Given the description of an element on the screen output the (x, y) to click on. 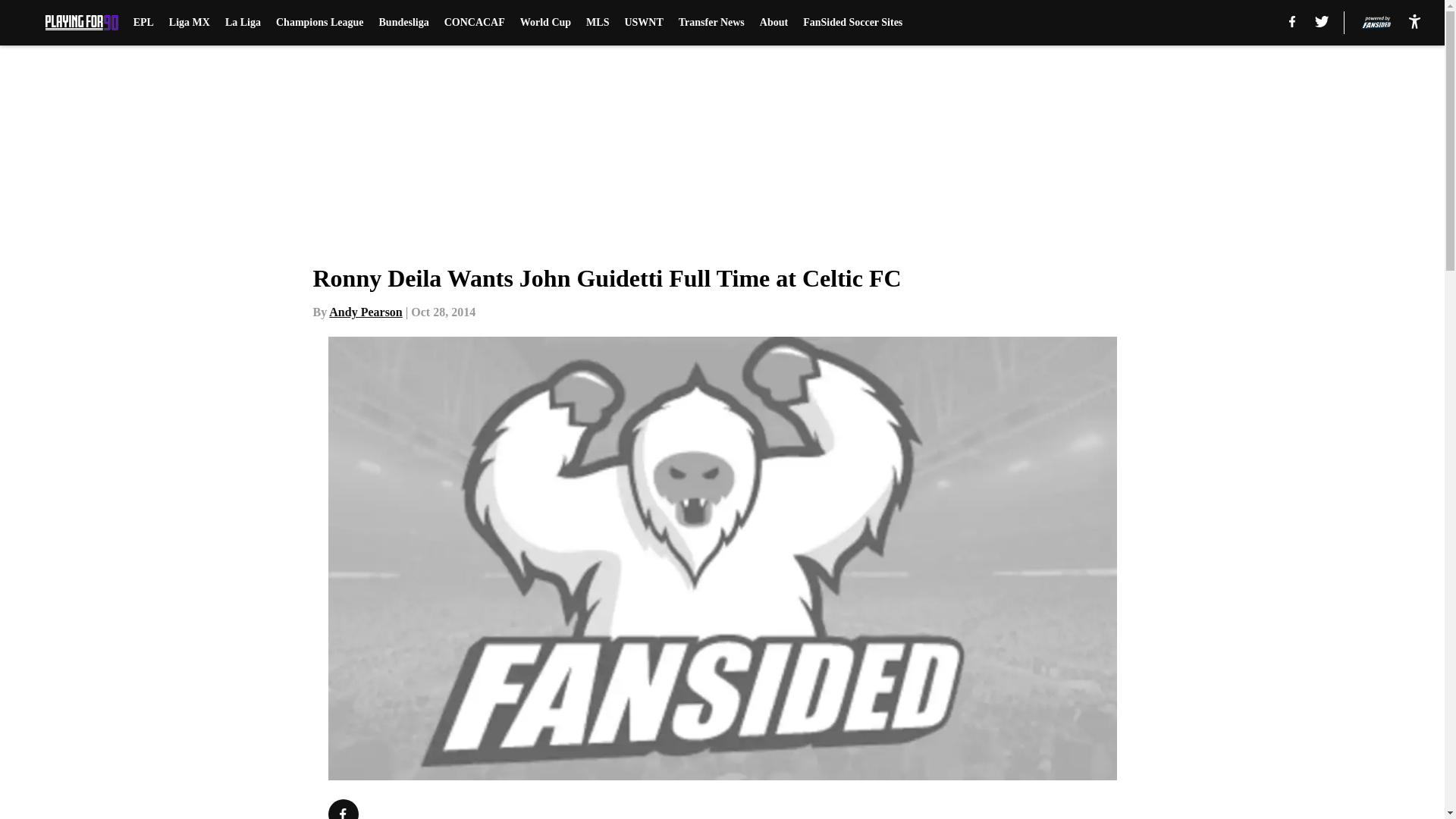
About (773, 22)
La Liga (242, 22)
World Cup (544, 22)
Bundesliga (403, 22)
CONCACAF (474, 22)
MLS (597, 22)
Champions League (320, 22)
USWNT (643, 22)
Liga MX (188, 22)
FanSided Soccer Sites (852, 22)
EPL (143, 22)
Andy Pearson (365, 311)
Transfer News (711, 22)
